Given the description of an element on the screen output the (x, y) to click on. 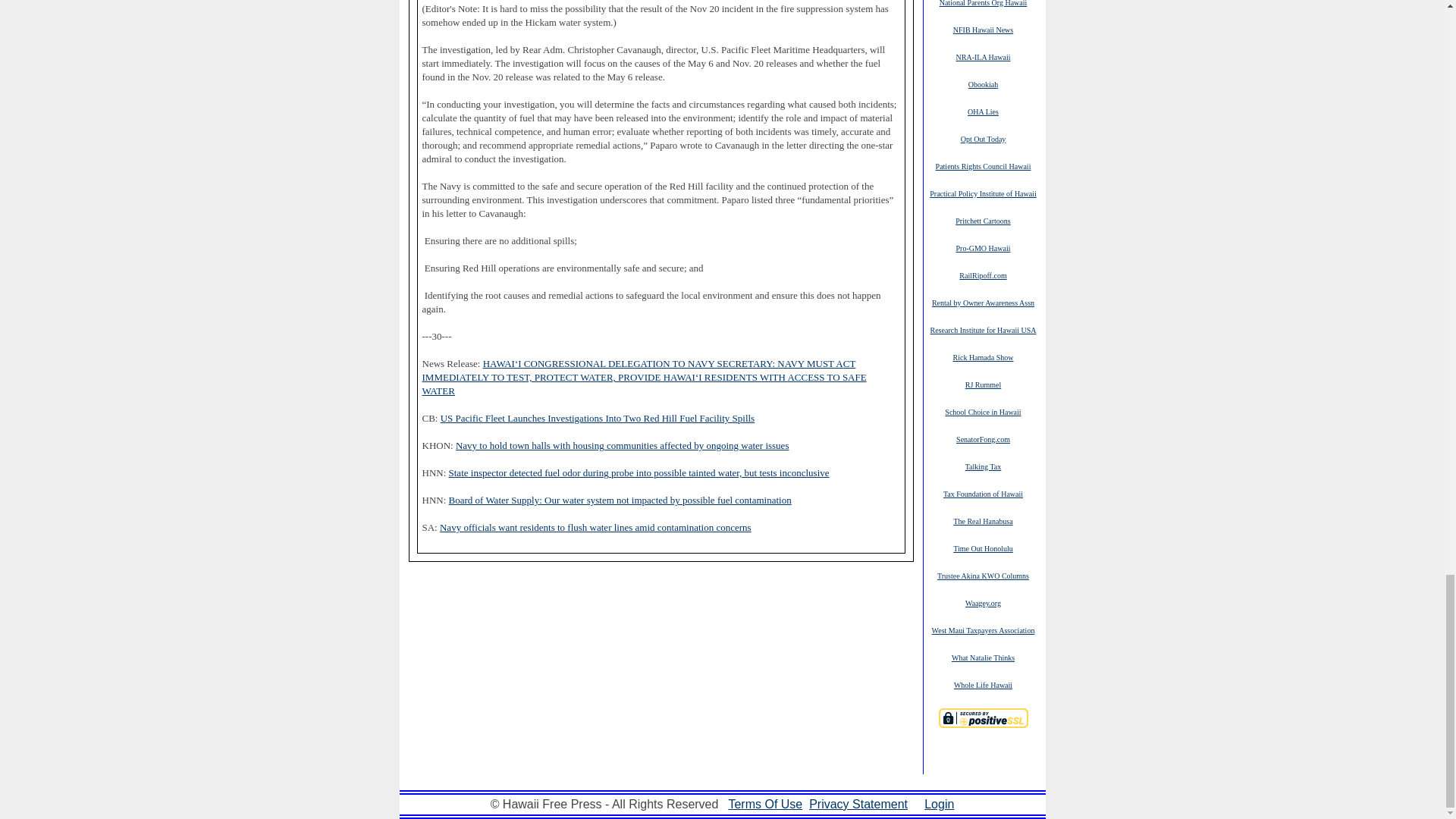
Login (938, 803)
